Given the description of an element on the screen output the (x, y) to click on. 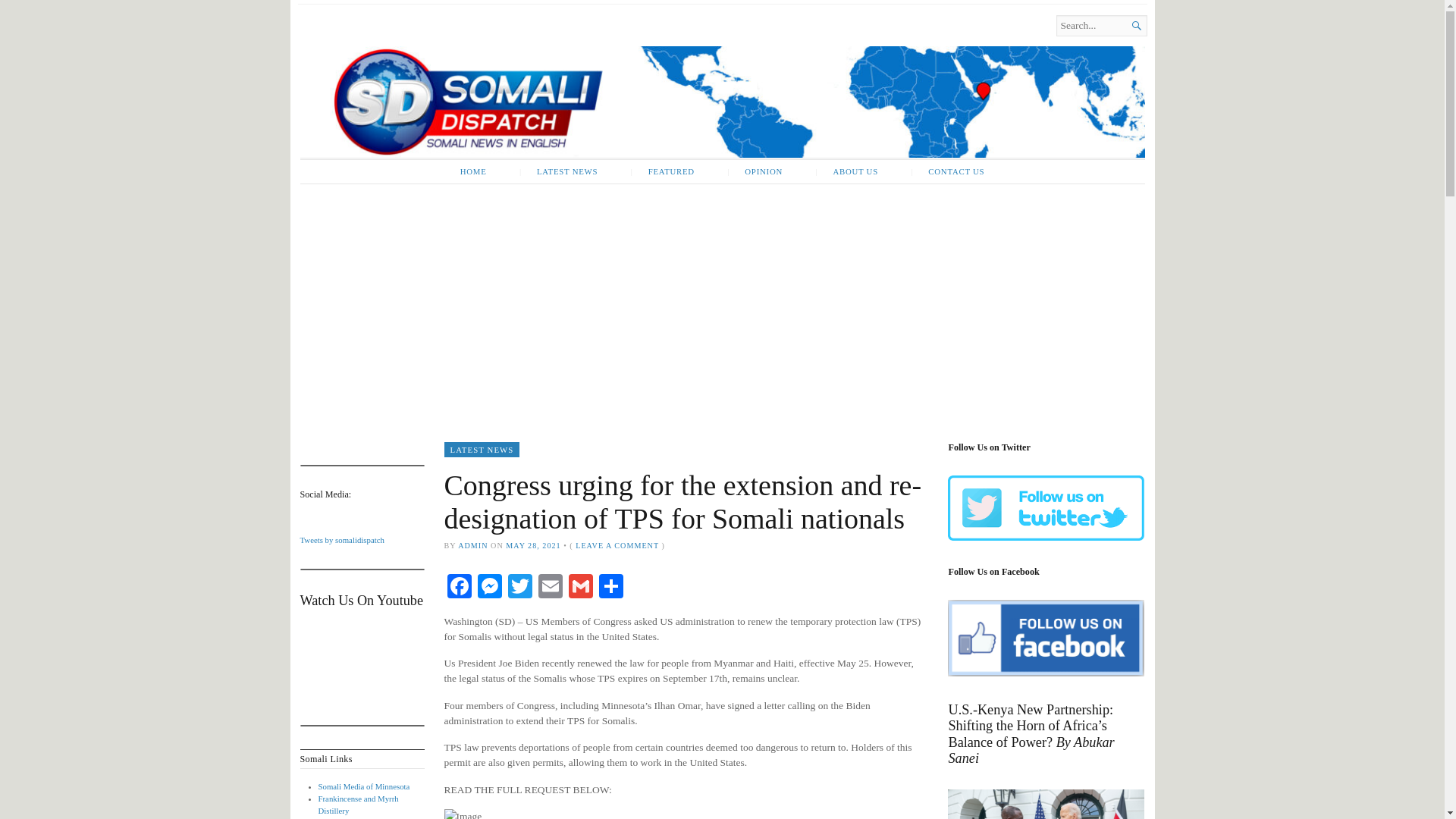
Gmail (580, 587)
6:08 am (532, 545)
Home (463, 44)
LATEST NEWS (557, 171)
Somali Dispatch (463, 44)
Frankincense and Myrrh Distillery (358, 803)
CONTACT US (946, 171)
HOME (473, 171)
ADMIN (472, 545)
Somali Dispatch (721, 101)
View all posts by admin (472, 545)
Hiiraan Online (342, 818)
FEATURED (662, 171)
LATEST NEWS (481, 449)
